Given the description of an element on the screen output the (x, y) to click on. 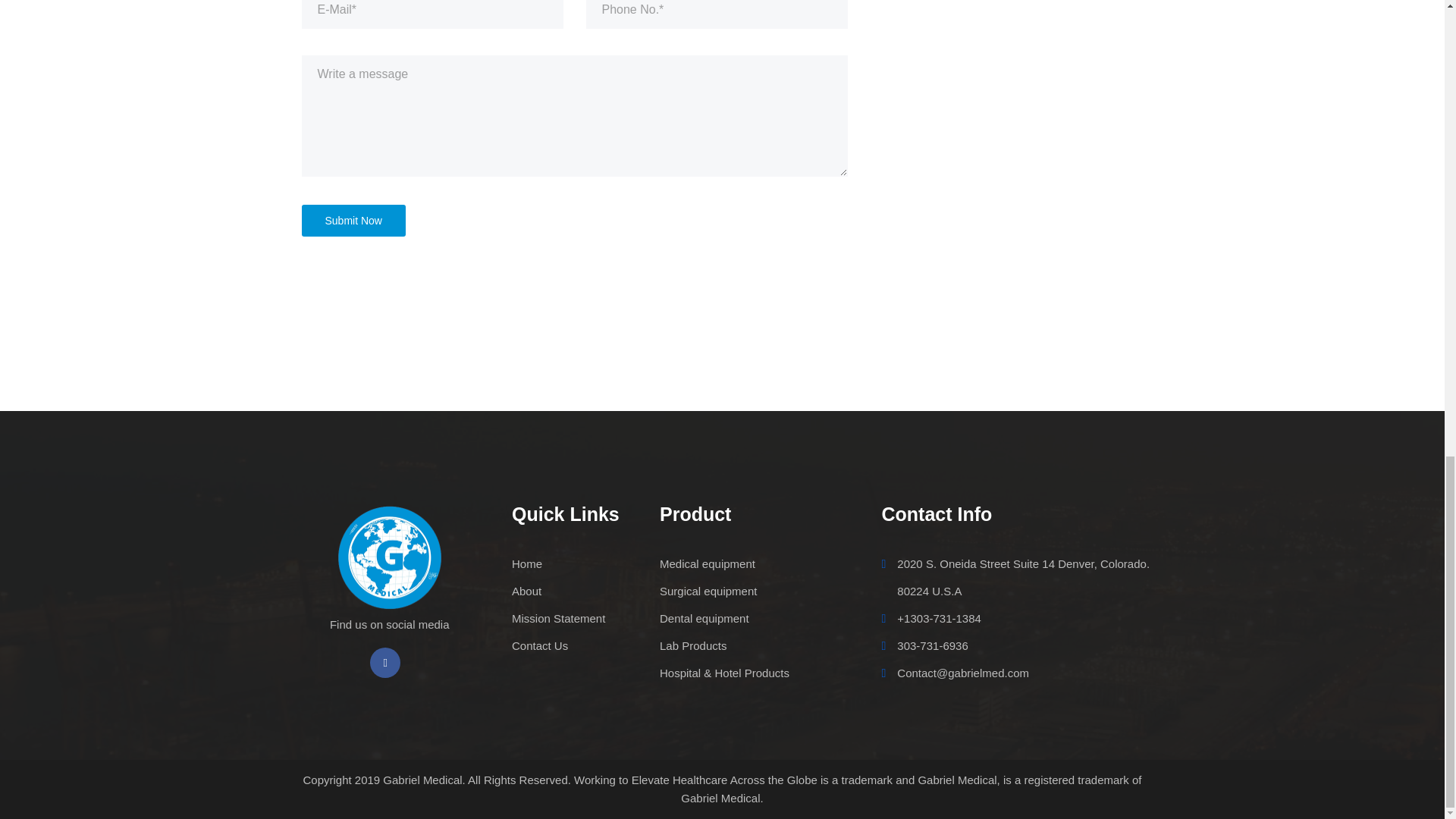
Submit Now (352, 220)
Submit Now (352, 220)
